Given the description of an element on the screen output the (x, y) to click on. 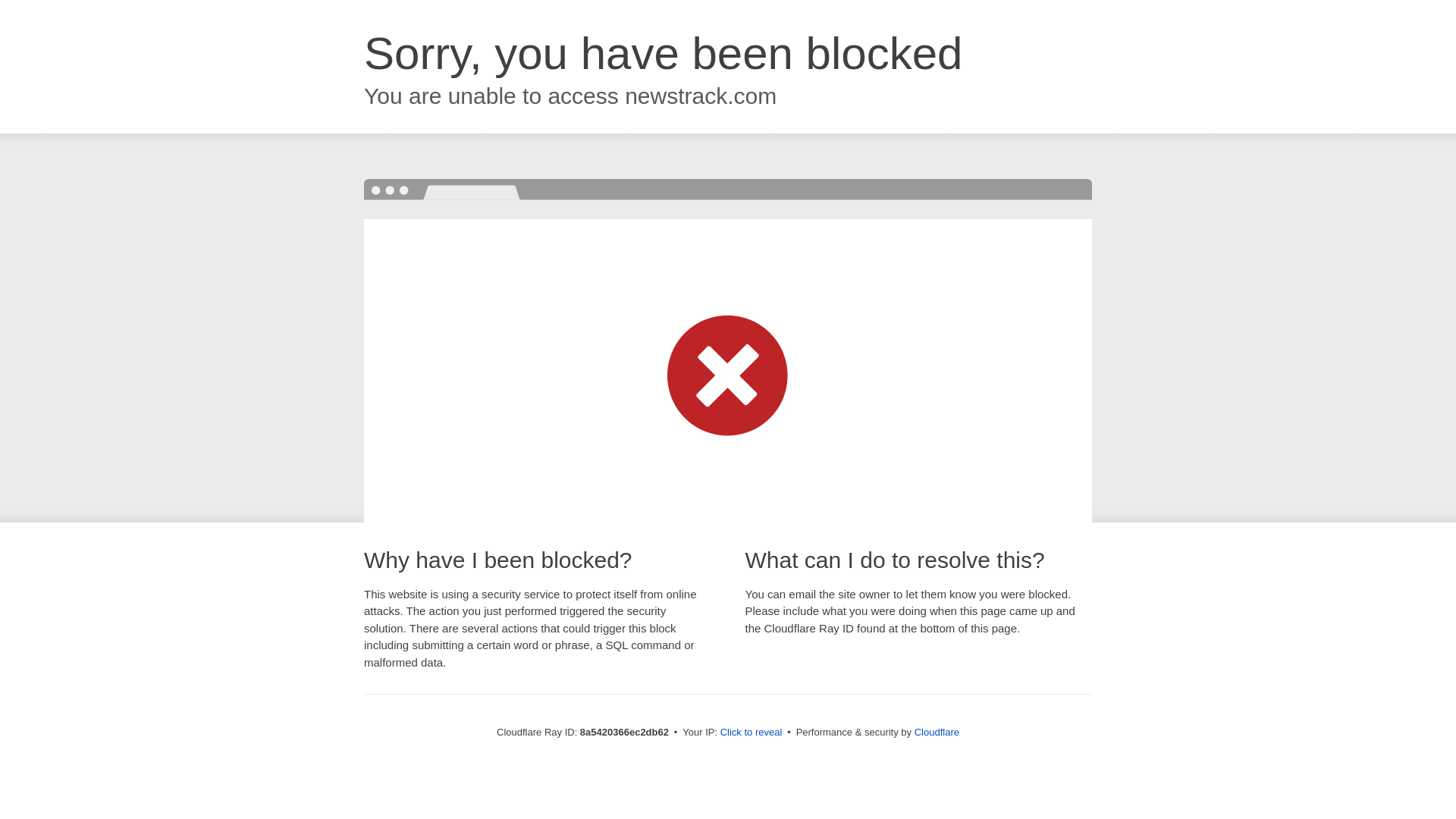
Click to reveal (751, 732)
Cloudflare (936, 731)
